Given the description of an element on the screen output the (x, y) to click on. 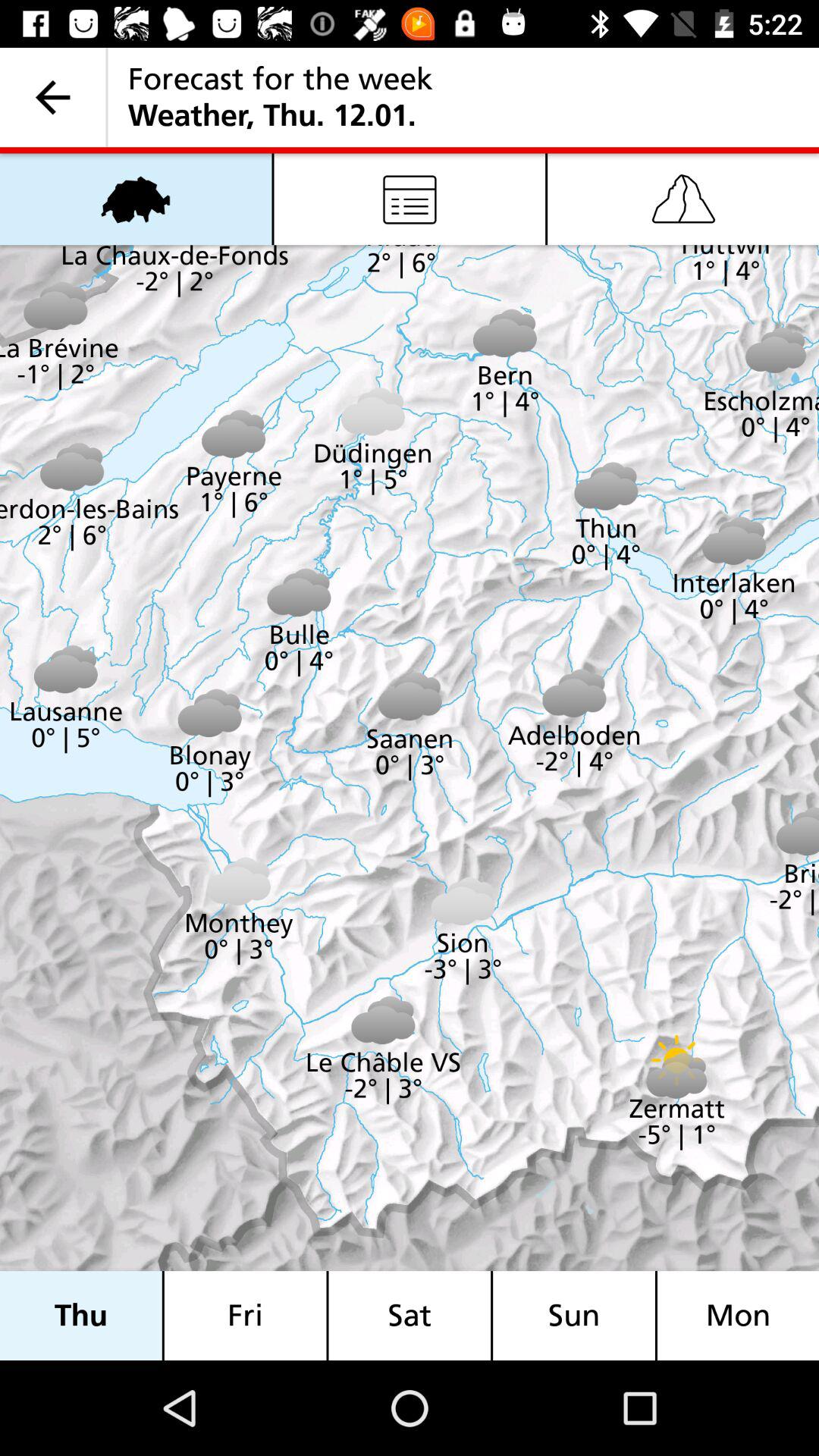
press the item next to sat (574, 1315)
